Given the description of an element on the screen output the (x, y) to click on. 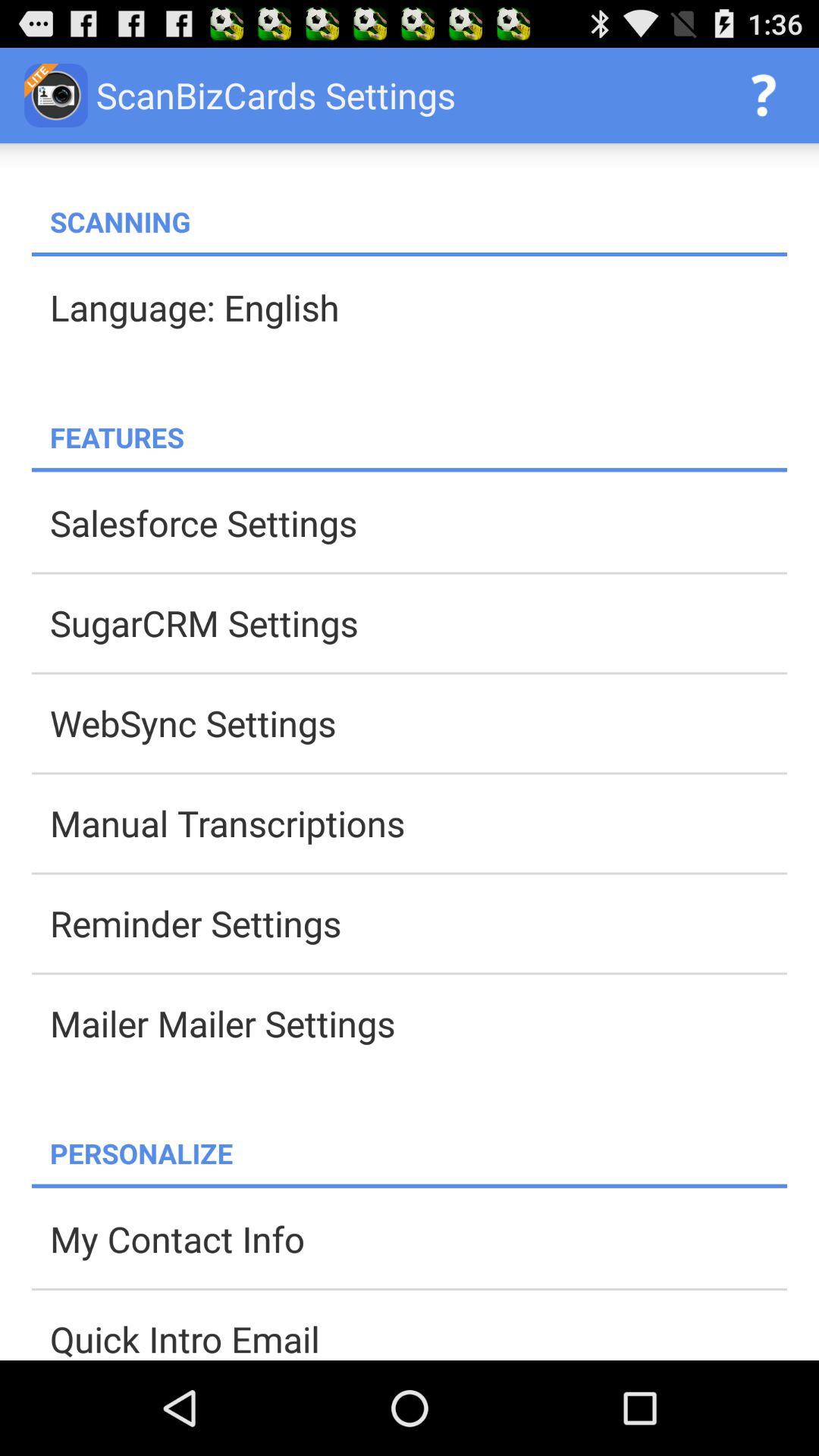
choose the icon above features app (418, 307)
